Given the description of an element on the screen output the (x, y) to click on. 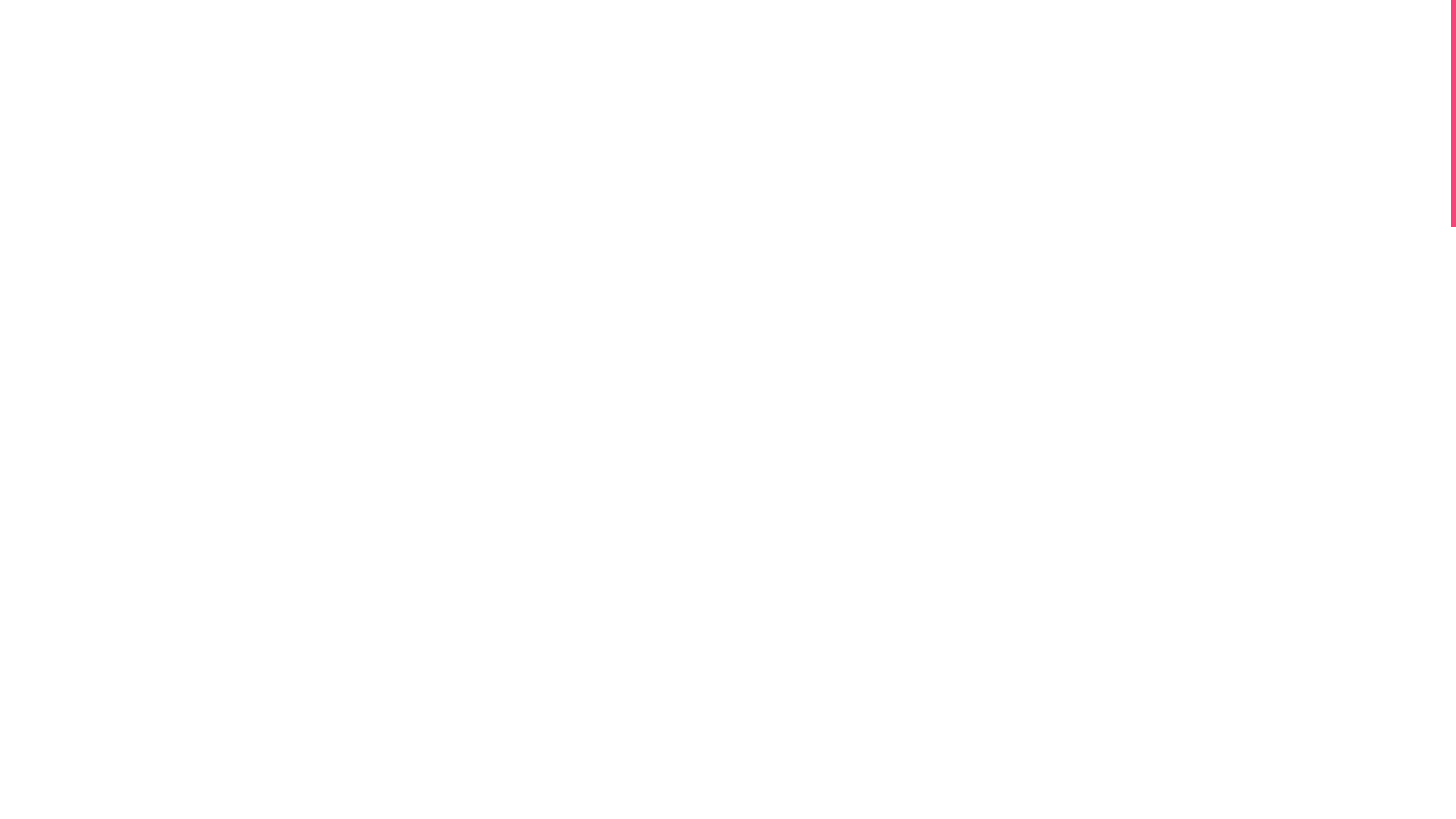
Kontakt Element type: hover (1074, 670)
Kontakt Element type: hover (1073, 670)
